Given the description of an element on the screen output the (x, y) to click on. 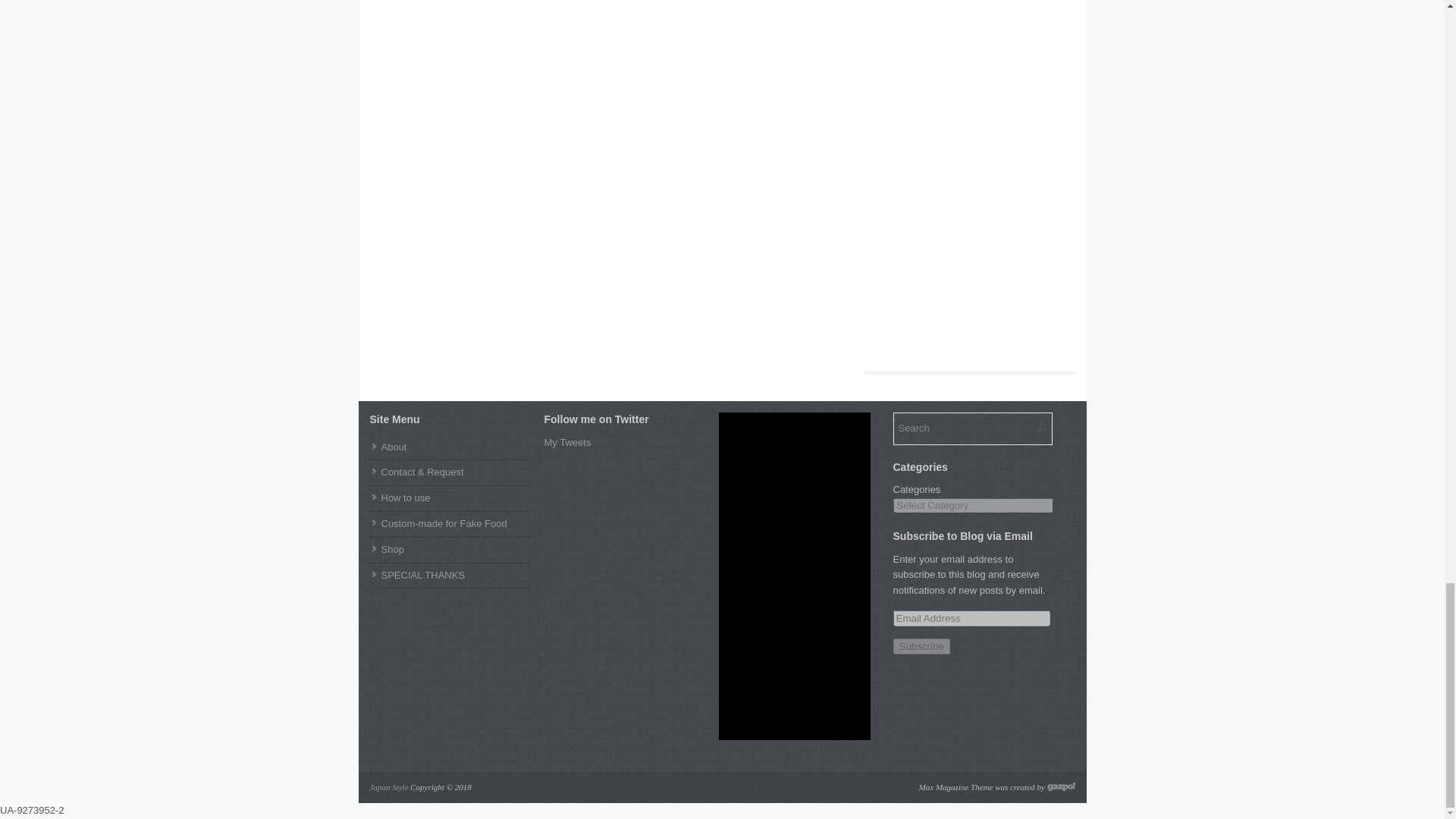
Search (972, 428)
Search (972, 428)
Subscribe (921, 646)
